Given the description of an element on the screen output the (x, y) to click on. 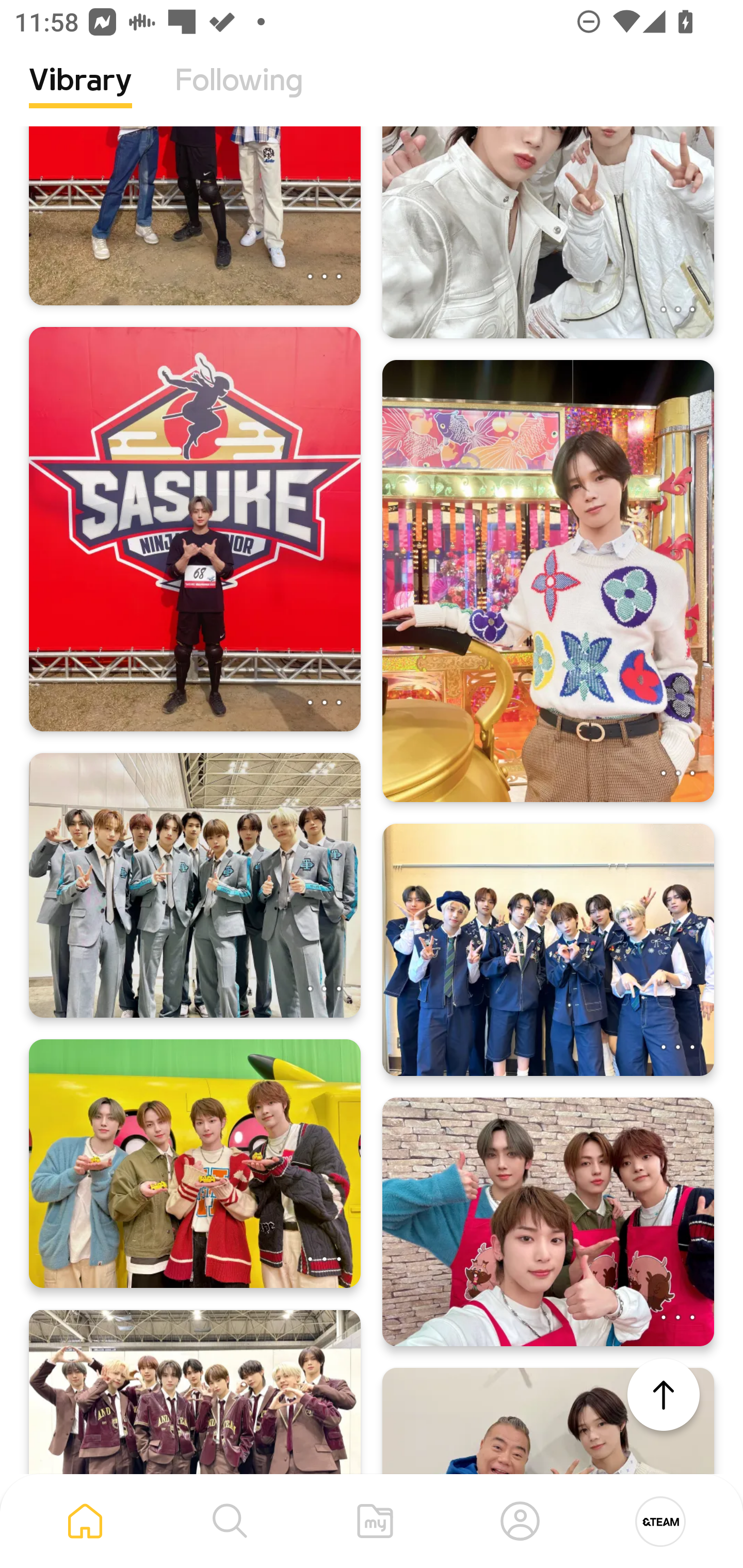
Vibrary (80, 95)
Following (239, 95)
